Given the description of an element on the screen output the (x, y) to click on. 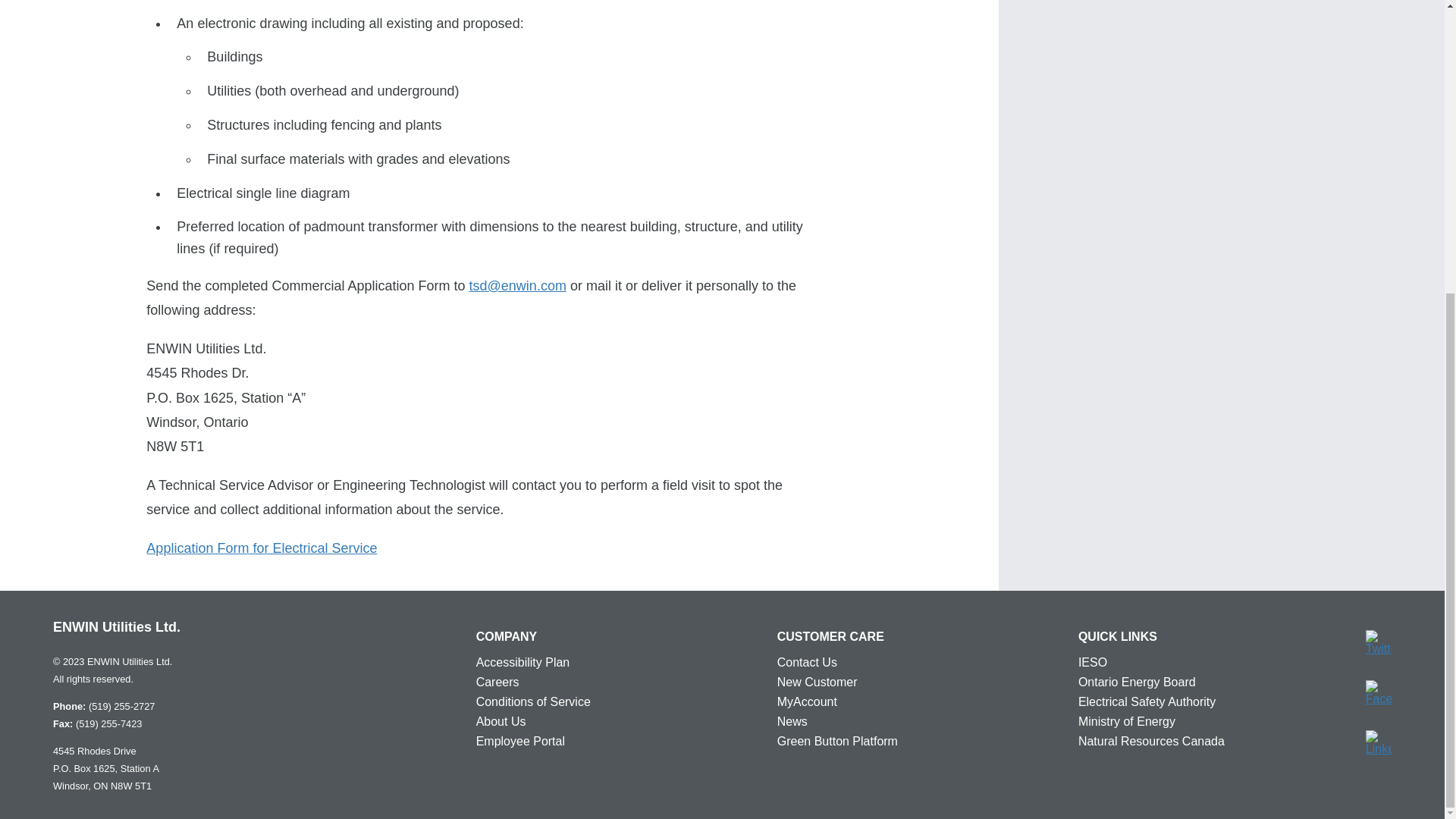
Commercial Application Form (262, 548)
Contact Technical Services Dept. (517, 285)
Twitter (1379, 642)
LinkedIn (1379, 742)
Facebook (1379, 692)
